Given the description of an element on the screen output the (x, y) to click on. 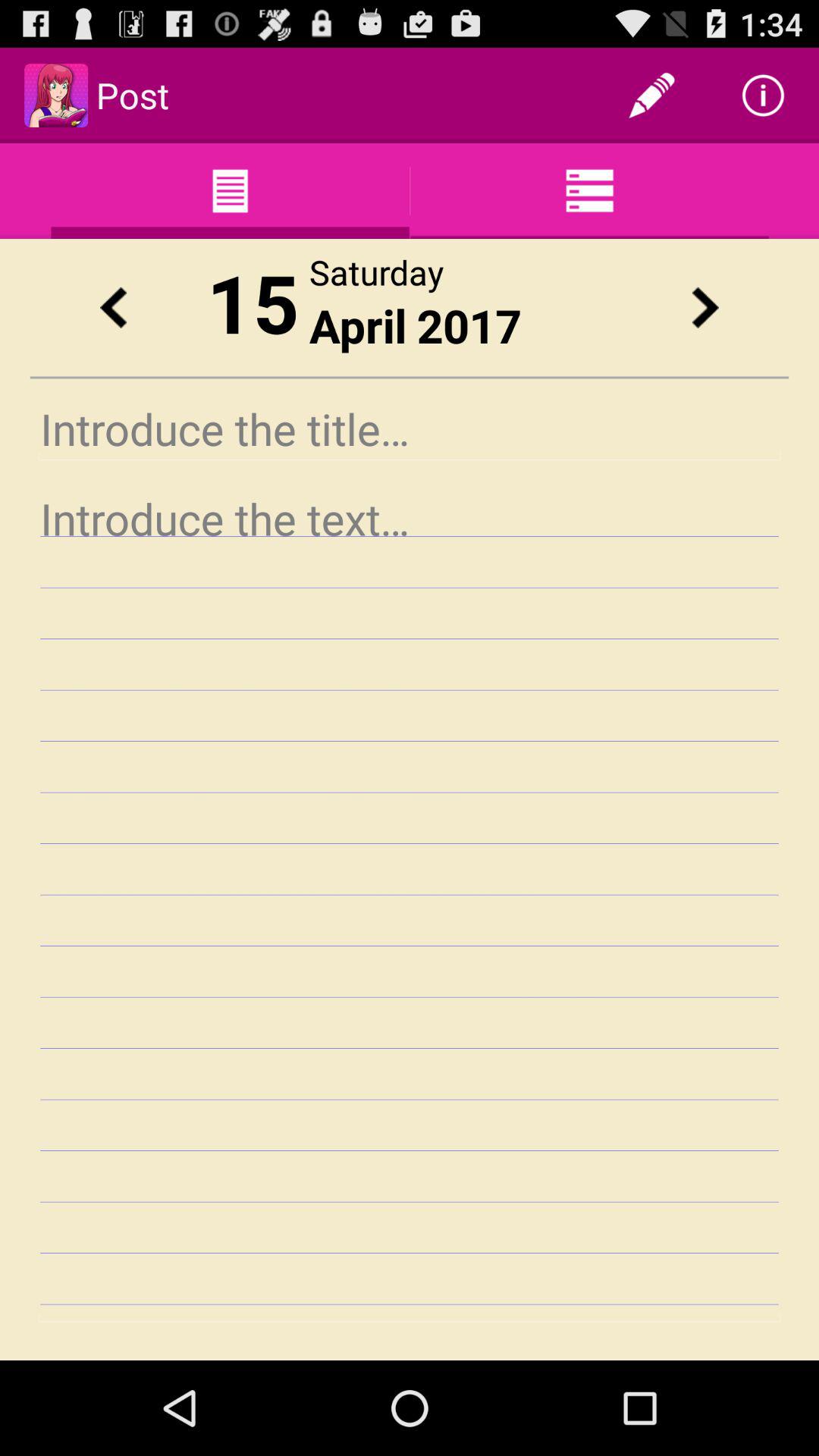
go to previous (113, 307)
